Given the description of an element on the screen output the (x, y) to click on. 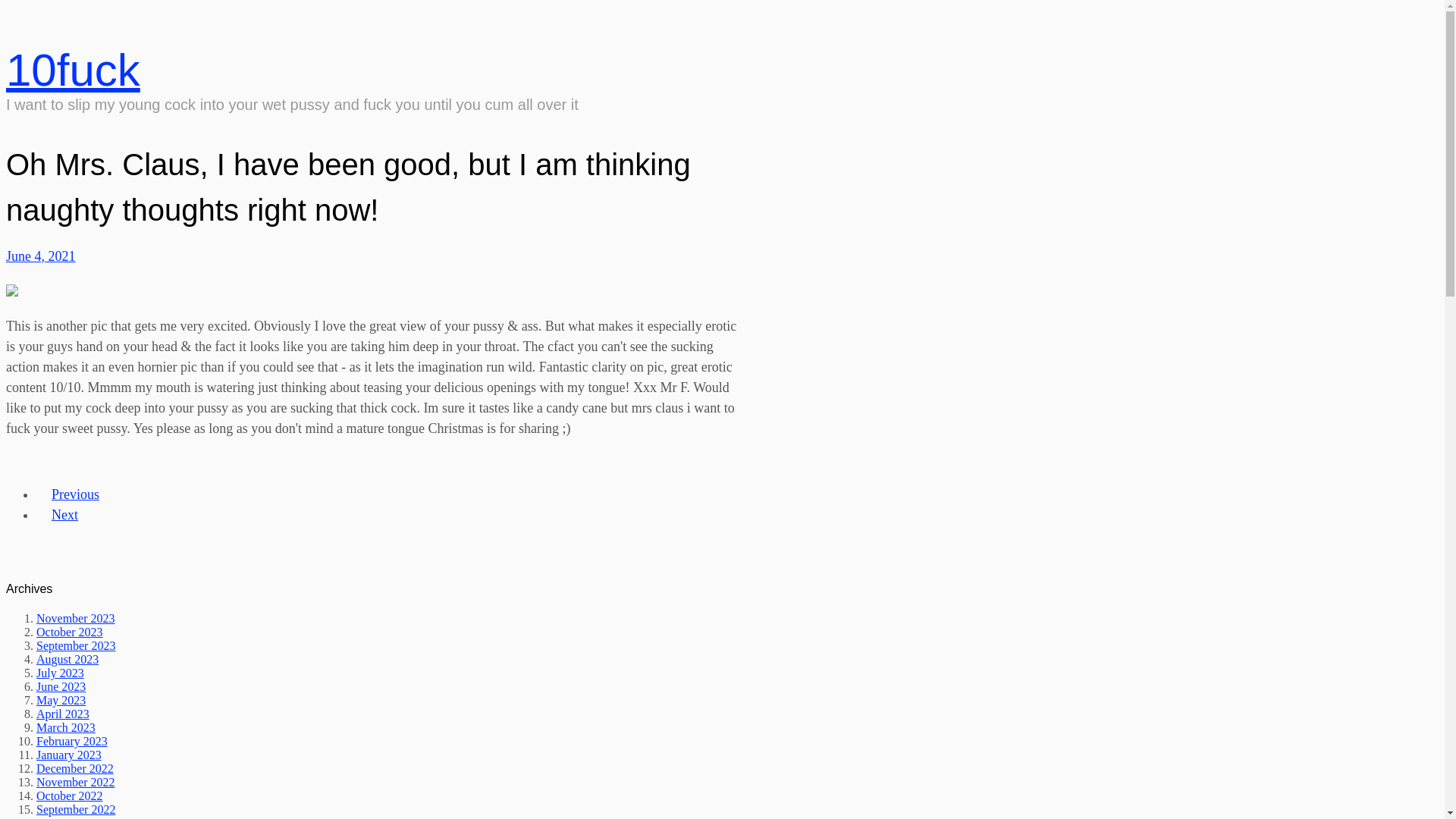
January 2023 Element type: text (68, 754)
10fuck Element type: text (73, 69)
March 2023 Element type: text (65, 727)
May 2023 Element type: text (60, 699)
Next Element type: text (64, 514)
November 2022 Element type: text (75, 781)
October 2022 Element type: text (69, 795)
October 2023 Element type: text (69, 631)
August 2023 Element type: text (67, 658)
Previous Element type: text (75, 494)
July 2023 Element type: text (60, 672)
June 4, 2021 Element type: text (40, 255)
November 2023 Element type: text (75, 617)
April 2023 Element type: text (62, 713)
September 2023 Element type: text (75, 645)
February 2023 Element type: text (71, 740)
December 2022 Element type: text (74, 768)
September 2022 Element type: text (75, 809)
June 2023 Element type: text (60, 686)
